Given the description of an element on the screen output the (x, y) to click on. 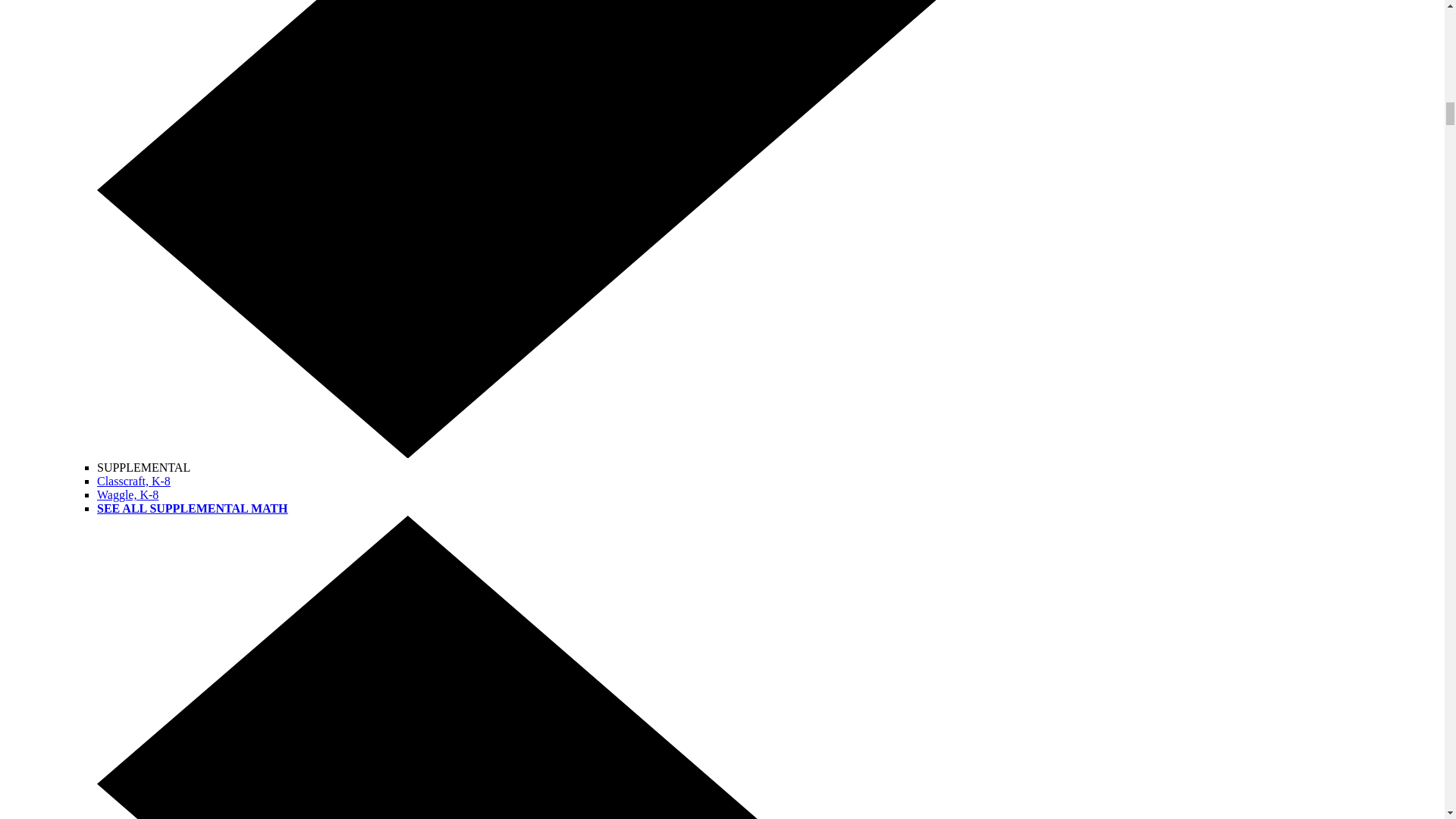
Waggle, K-8 (127, 494)
Classcraft, K-8 (133, 481)
